Given the description of an element on the screen output the (x, y) to click on. 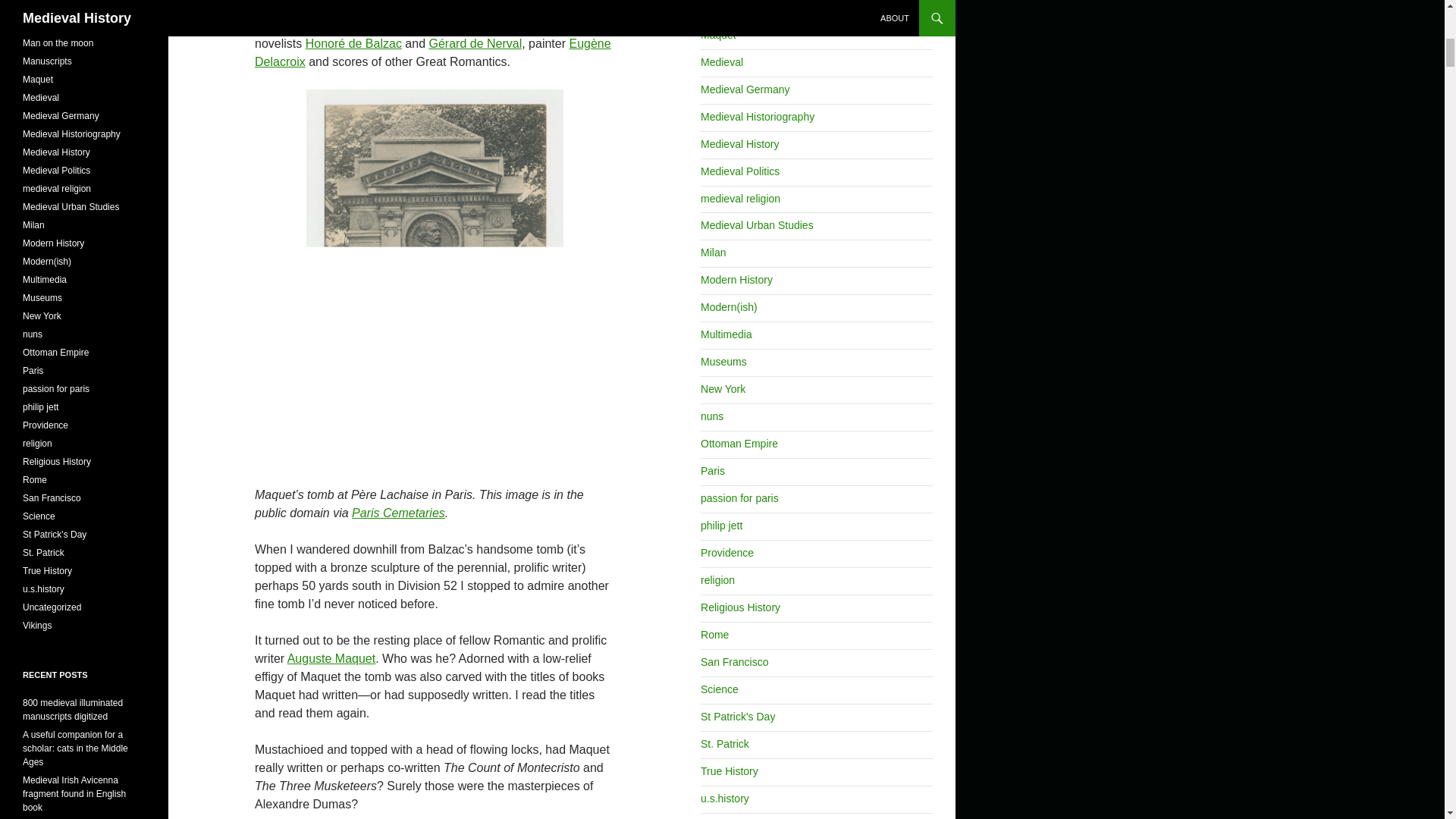
Paris Cemetaries (398, 512)
Auguste Maquet (330, 658)
